Given the description of an element on the screen output the (x, y) to click on. 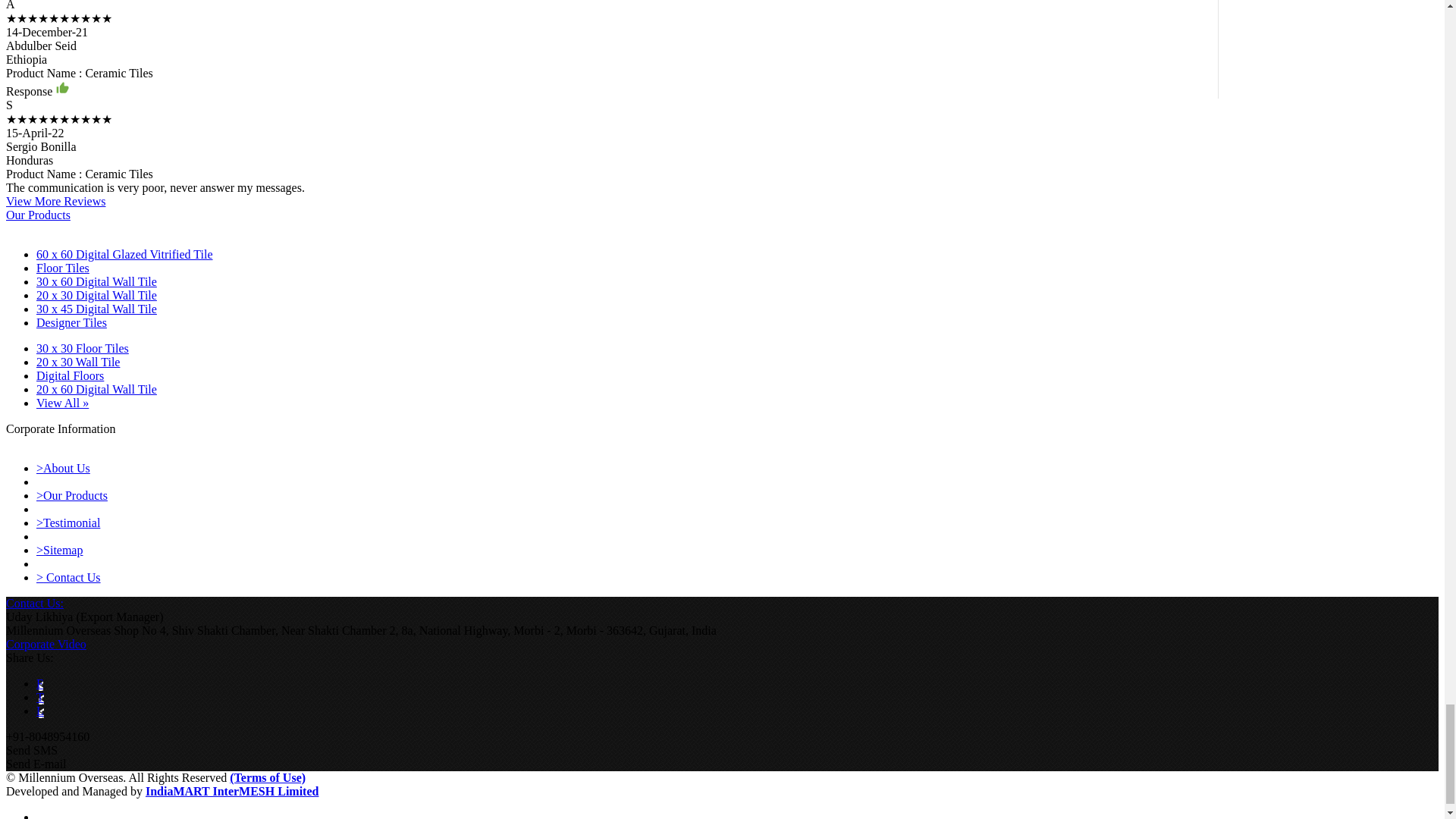
Floor Tiles (62, 267)
30 x 60 Digital Wall Tile (96, 281)
60 x 60 Digital Glazed Vitrified Tile (124, 254)
